Given the description of an element on the screen output the (x, y) to click on. 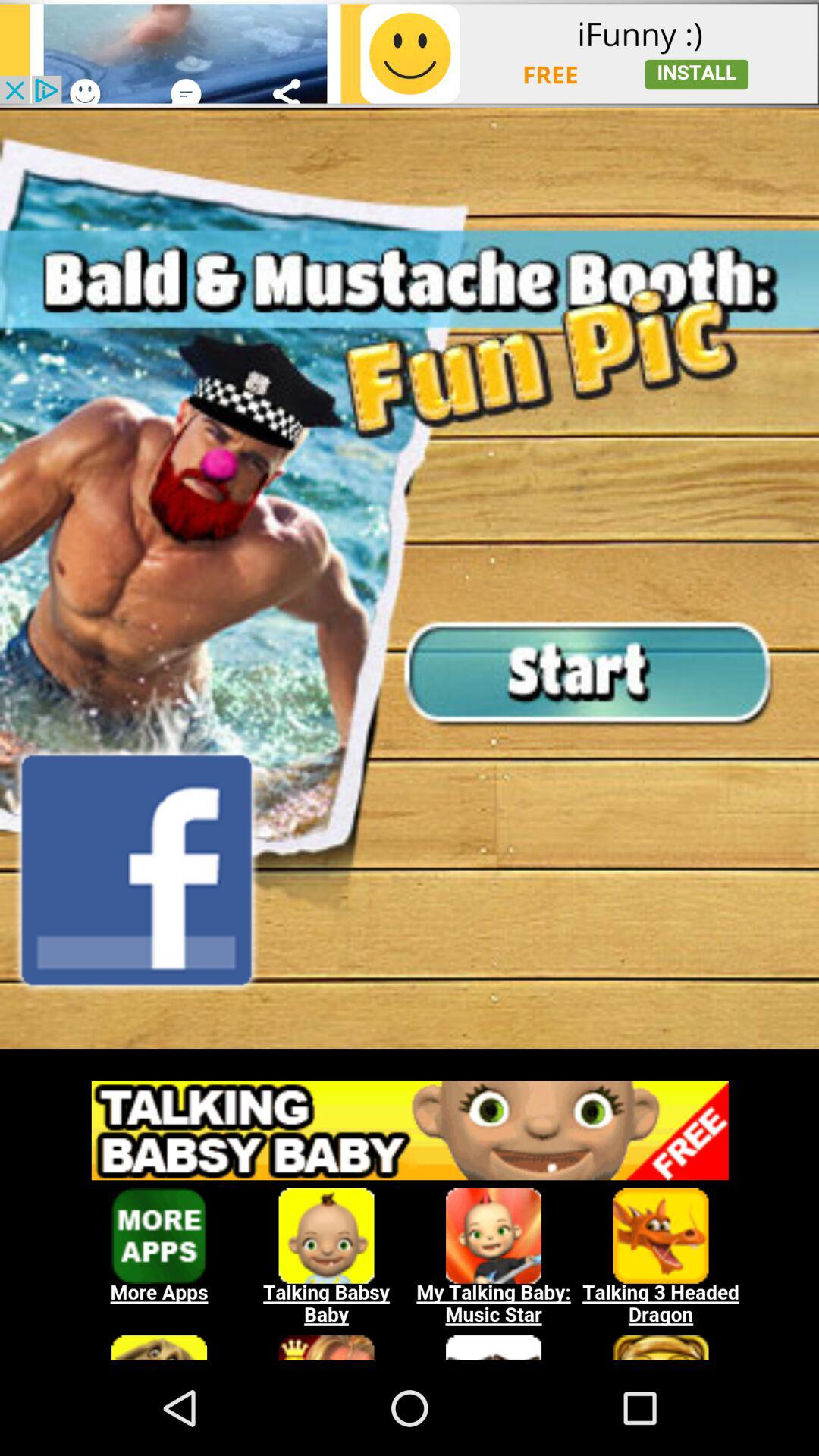
came page (409, 577)
